Given the description of an element on the screen output the (x, y) to click on. 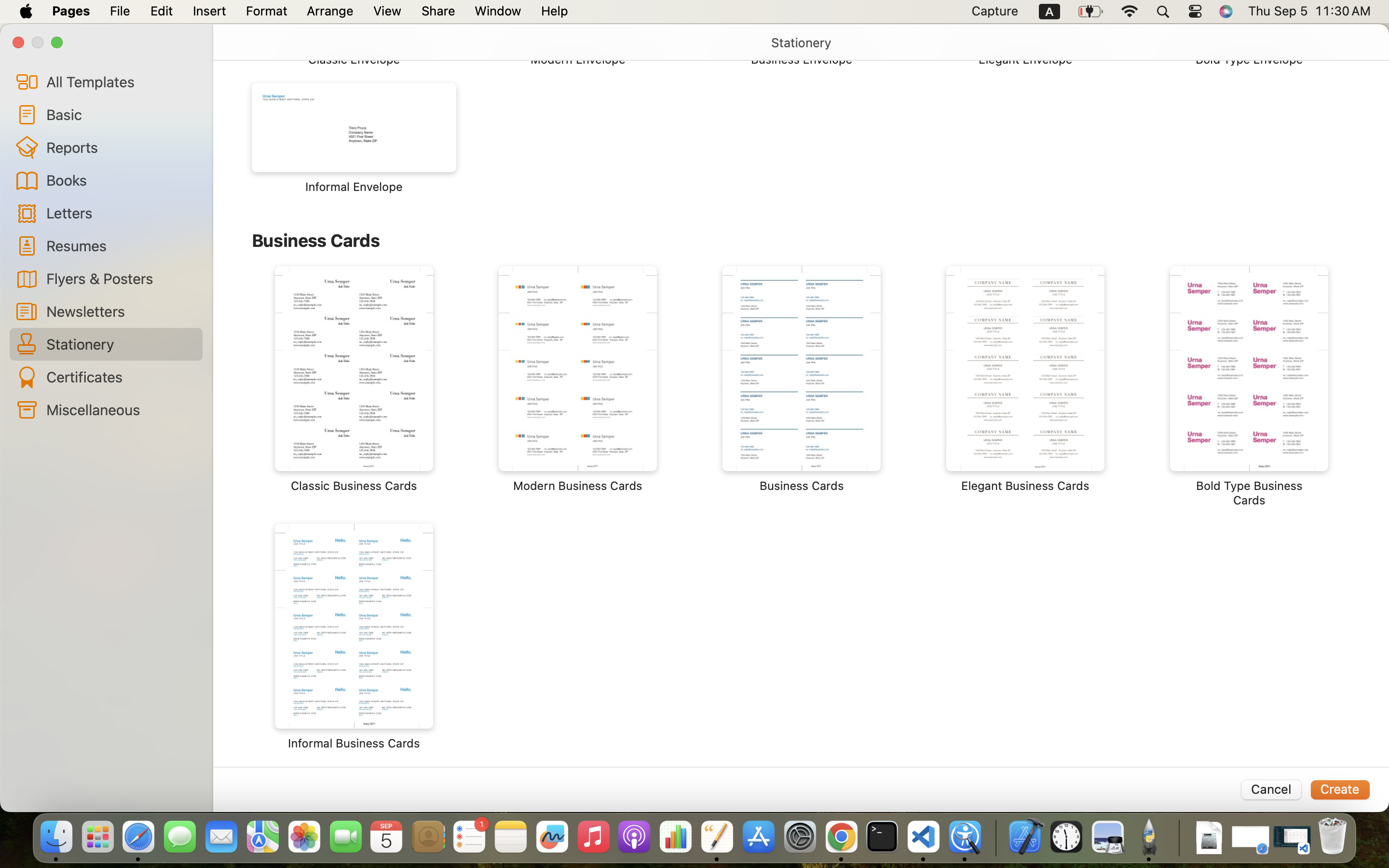
Reports Element type: AXStaticText (120, 146)
‎⁨Modern Business Cards⁩ Element type: AXButton (577, 379)
‎⁨Elegant Business Cards⁩ Element type: AXButton (1025, 379)
Basic Element type: AXStaticText (120, 114)
